Given the description of an element on the screen output the (x, y) to click on. 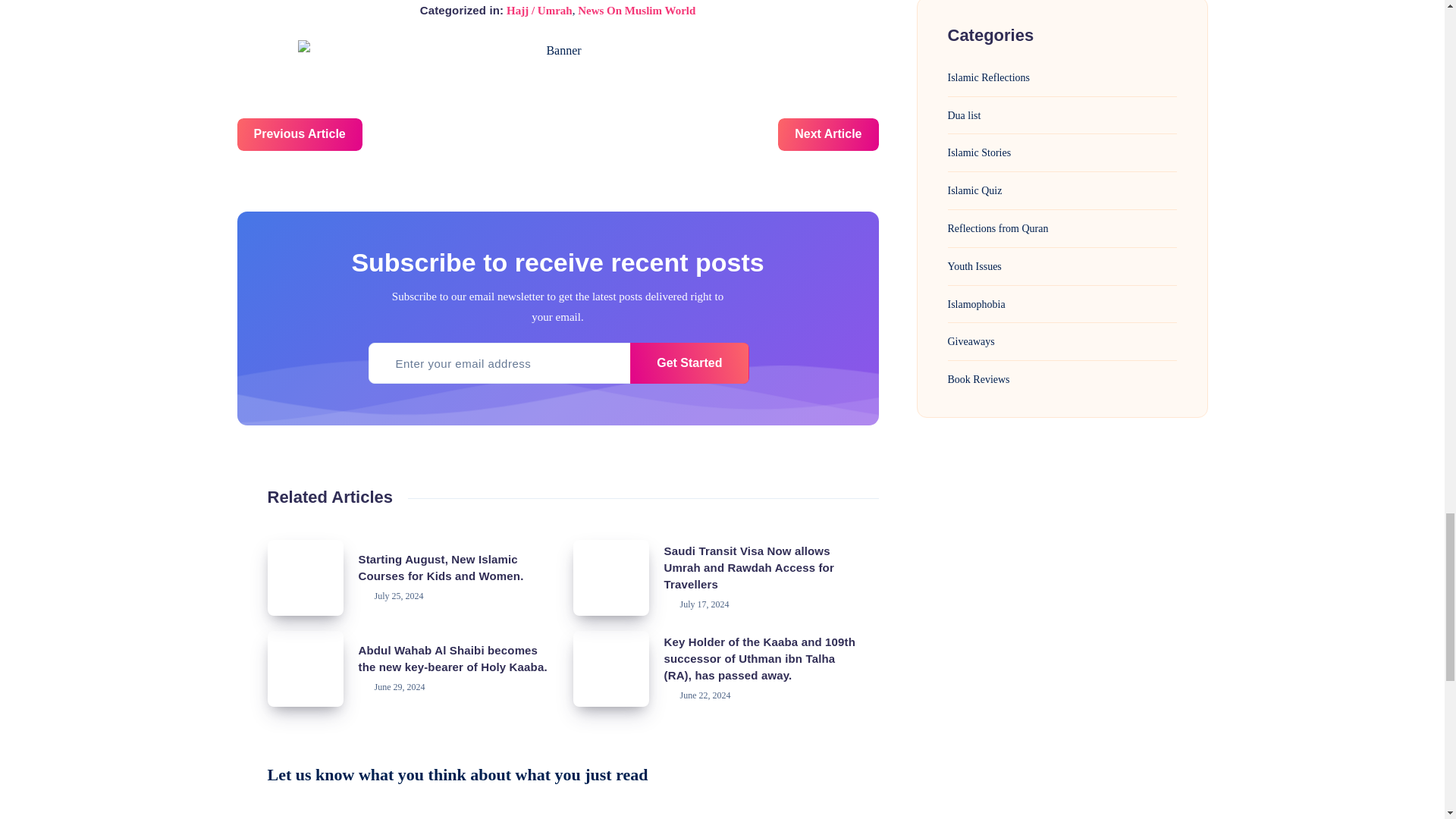
Comment Form (571, 804)
